Given the description of an element on the screen output the (x, y) to click on. 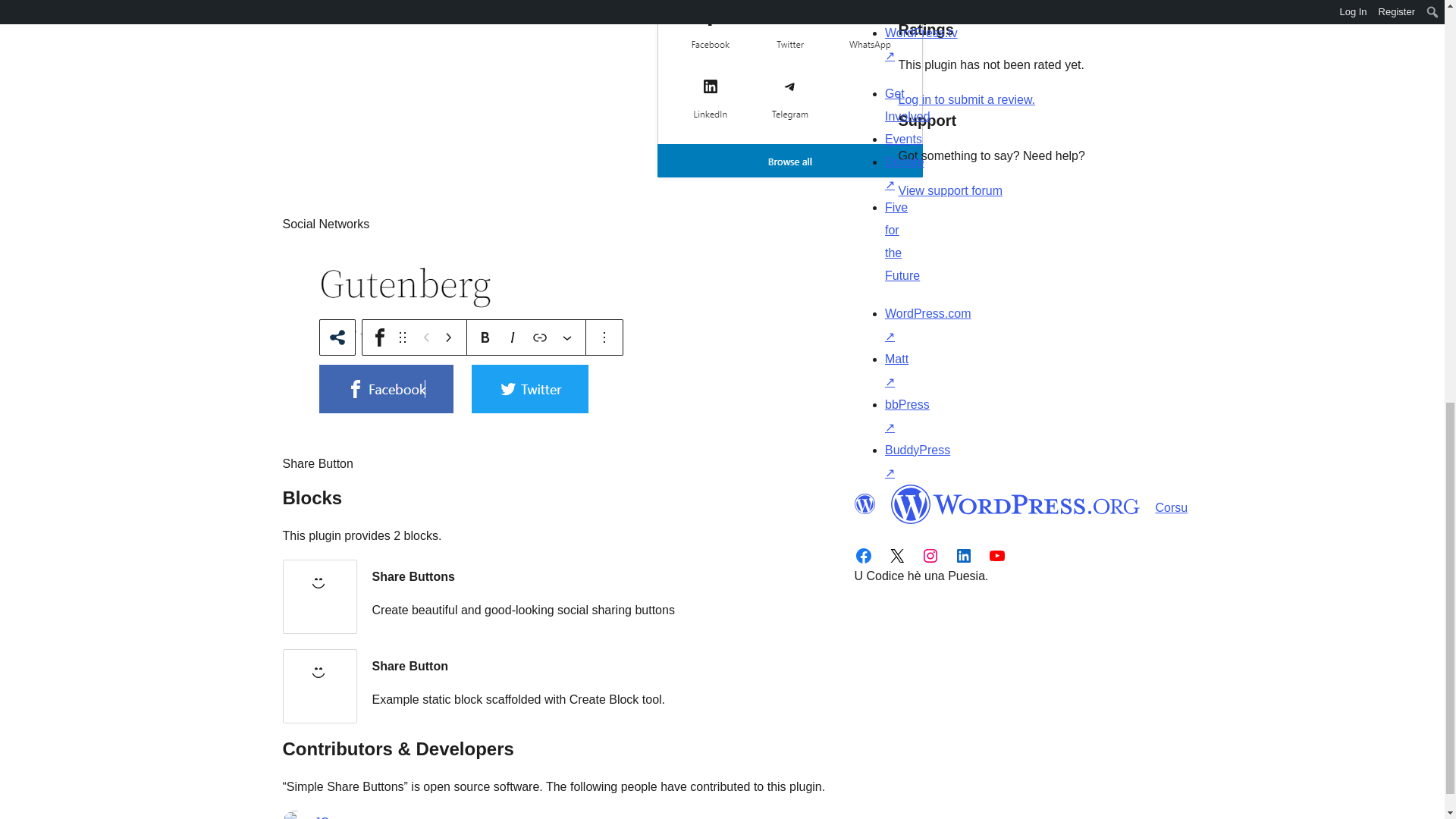
JC (321, 815)
WordPress.org (1014, 504)
Log in to WordPress.org (966, 99)
WordPress.org (864, 504)
